Given the description of an element on the screen output the (x, y) to click on. 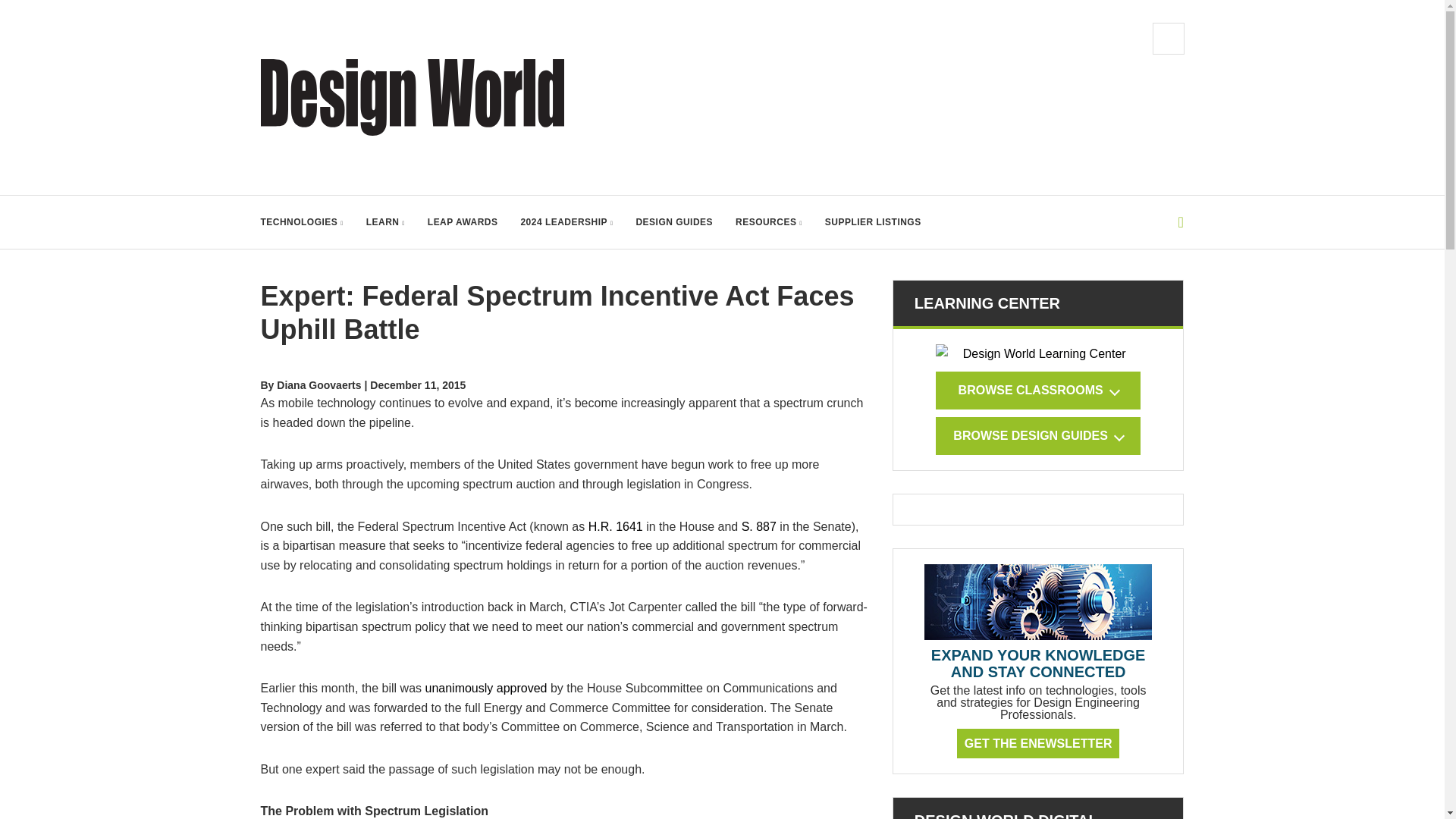
2024 LEADERSHIP (565, 221)
SUPPLIER LISTINGS (873, 221)
Design World (412, 96)
DESIGN GUIDES (673, 221)
LEAP AWARDS (462, 221)
TECHNOLOGIES (301, 221)
RESOURCES (768, 221)
